Given the description of an element on the screen output the (x, y) to click on. 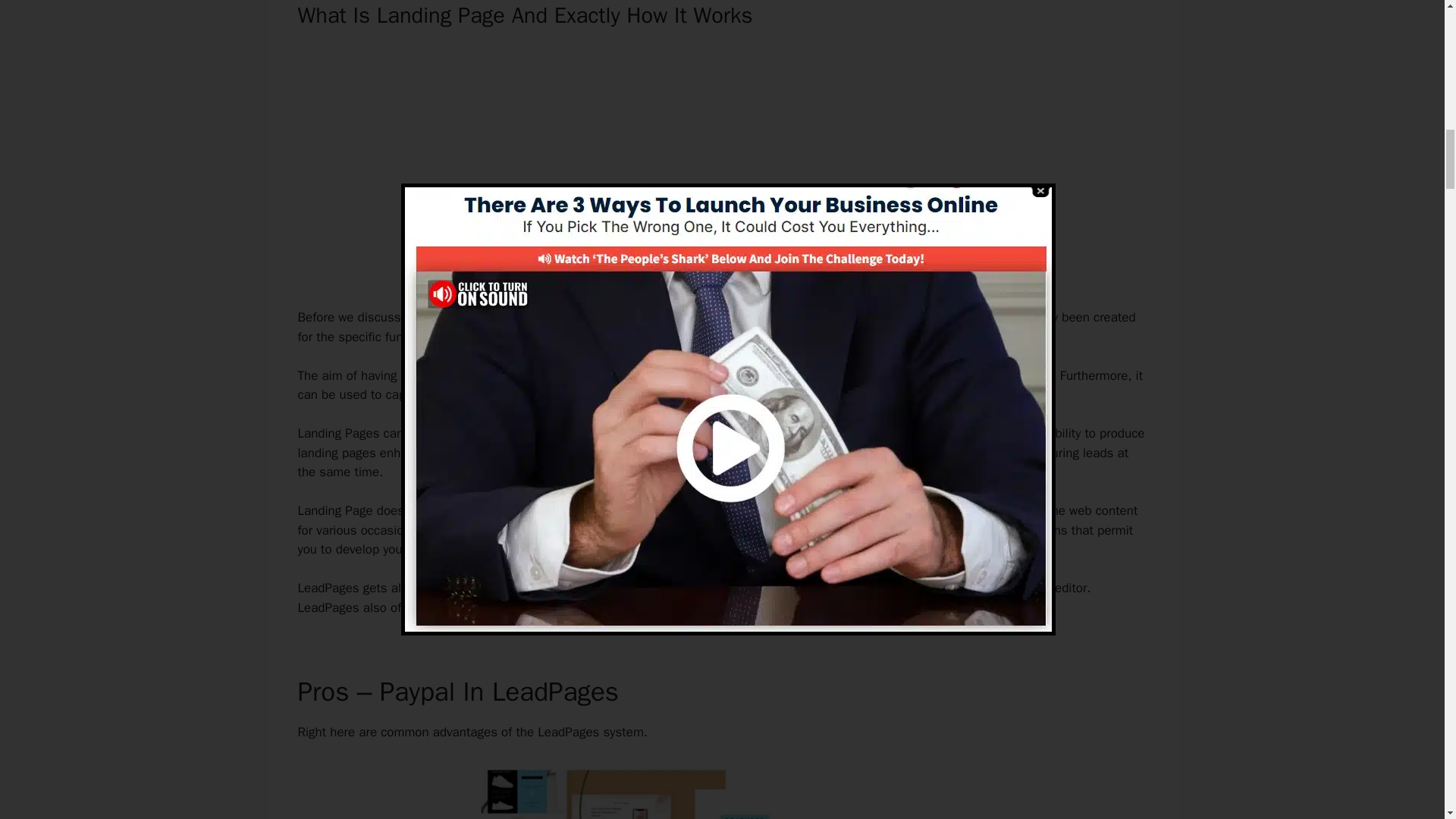
Landing page templates (891, 530)
lead generation (468, 530)
YouTube video player (721, 163)
